Given the description of an element on the screen output the (x, y) to click on. 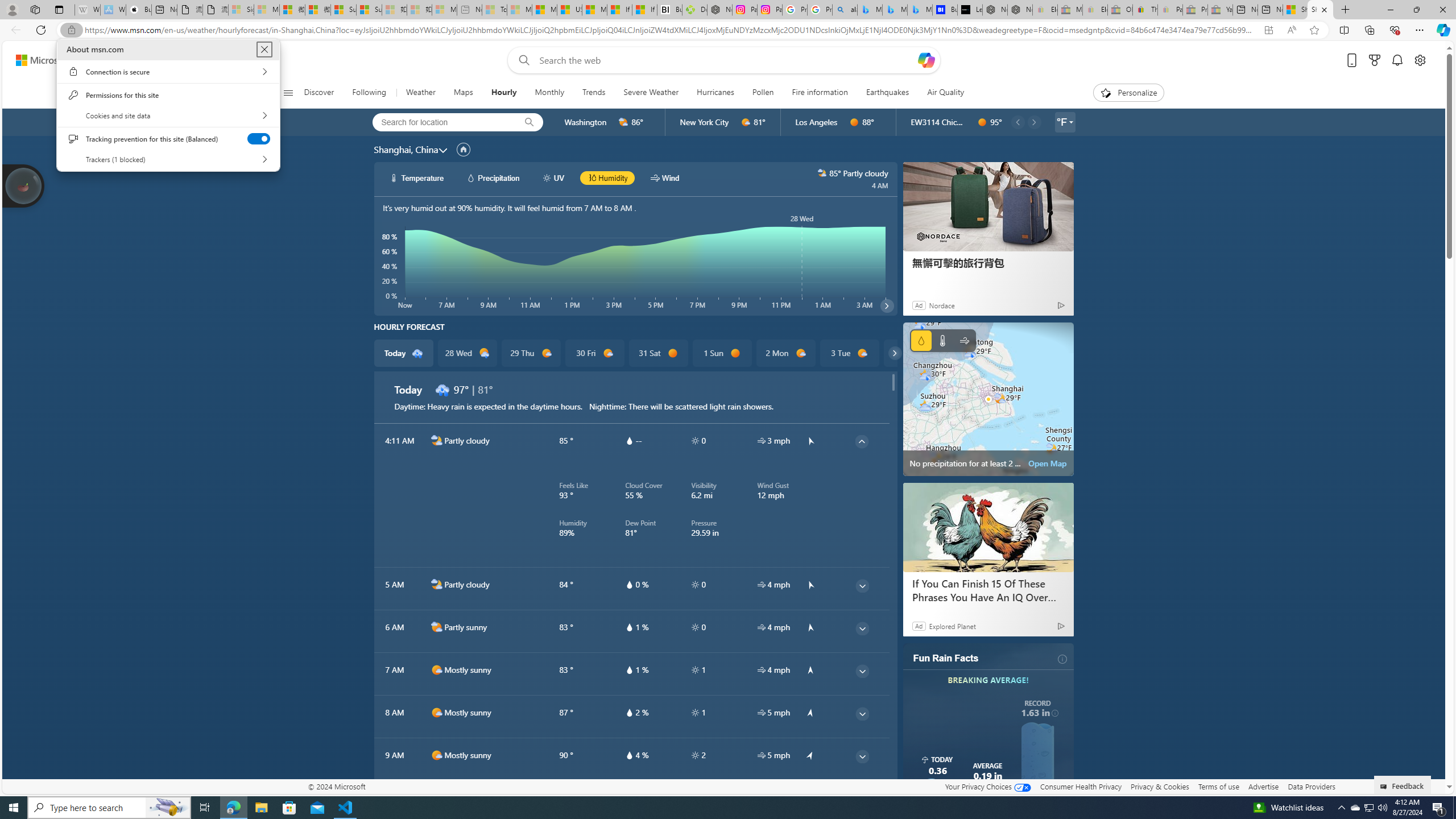
Consumer Health Privacy (1080, 785)
Maps (462, 92)
Class: feedback_link_icon-DS-EntryPoint1-1 (1384, 786)
Your Privacy Choices (987, 785)
Fire information (819, 92)
US Heat Deaths Soared To Record High Last Year (568, 9)
2 Mon d1000 (785, 352)
Precipitation (920, 340)
Microsoft Services Agreement - Sleeping (265, 9)
Enter your search term (726, 59)
Shanghai, China hourly forecast | Microsoft Weather (1320, 9)
